Given the description of an element on the screen output the (x, y) to click on. 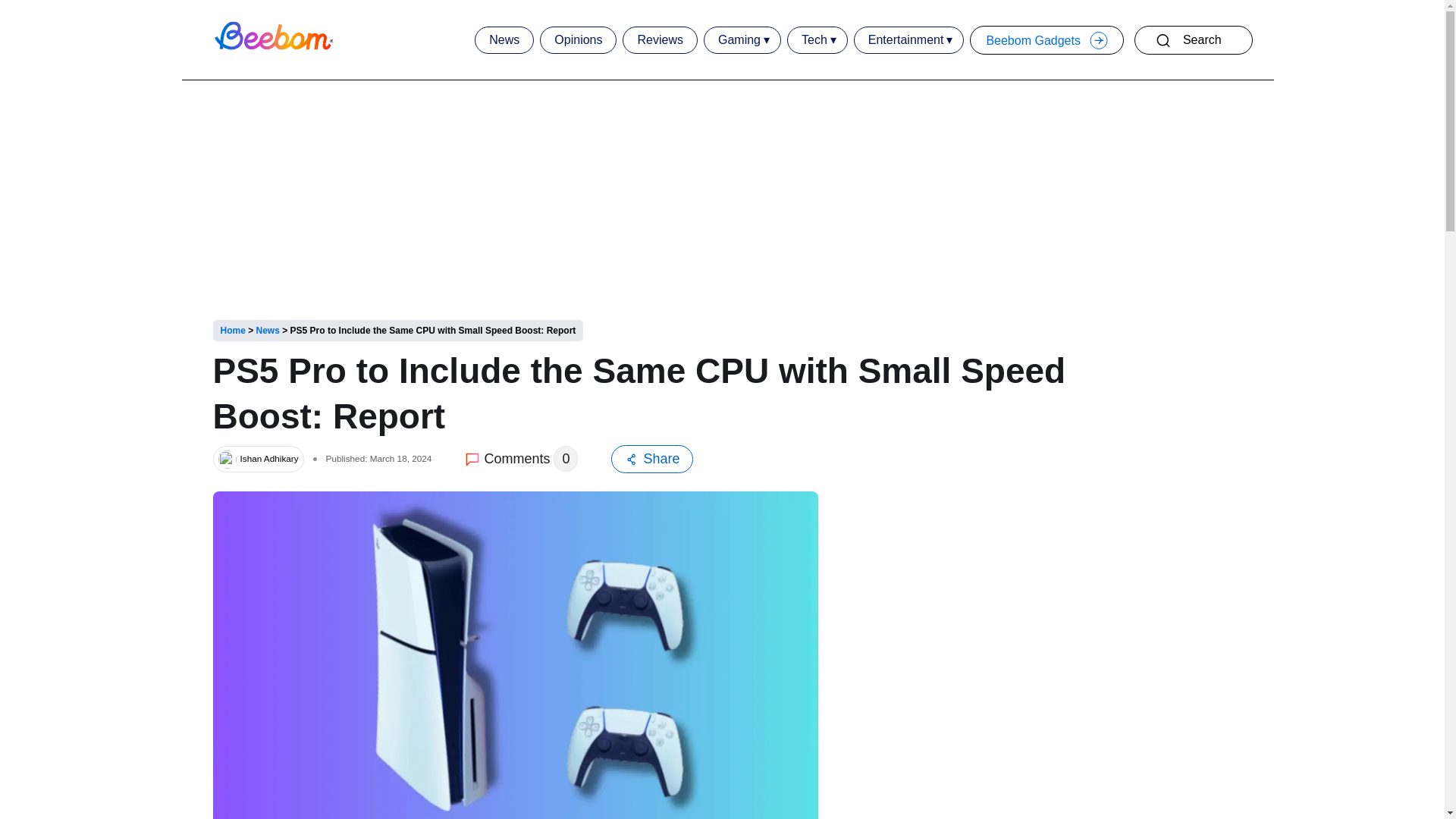
News (504, 39)
Opinions (577, 39)
Gaming (739, 39)
Tech (813, 39)
Search for: (1206, 39)
Reviews (659, 39)
